Given the description of an element on the screen output the (x, y) to click on. 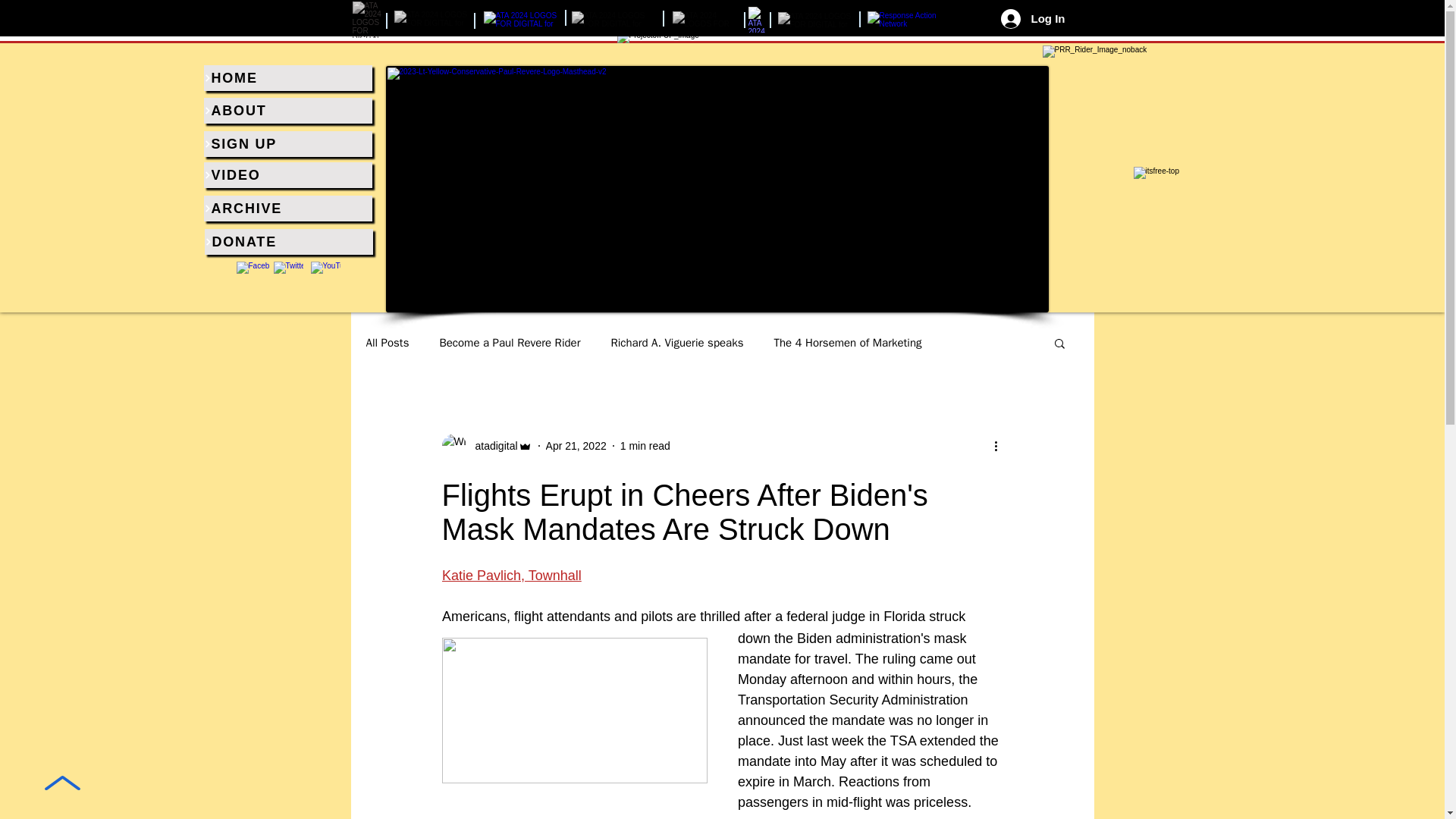
HOME (287, 77)
DONATE (288, 241)
The 4 Horsemen of Marketing (847, 341)
ARCHIVE (287, 208)
Richard A. Viguerie speaks (676, 341)
VIDEO (287, 175)
atadigital (490, 446)
ABOUT (287, 110)
RAN-grayscale.png (913, 19)
SIGN UP (287, 144)
